Given the description of an element on the screen output the (x, y) to click on. 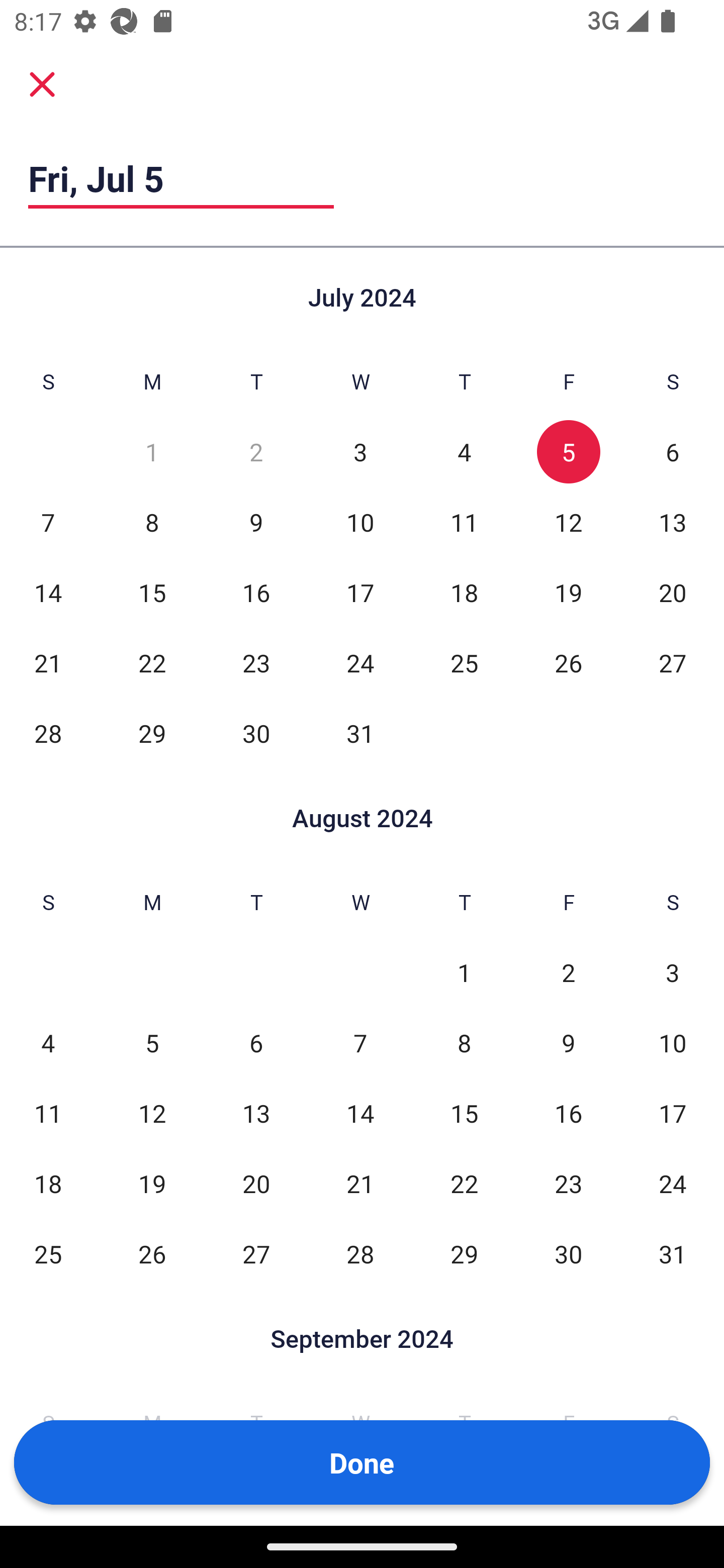
Cancel (41, 83)
Fri, Jul 5 (180, 178)
1 Mon, Jul 1, Not Selected (152, 452)
2 Tue, Jul 2, Not Selected (256, 452)
3 Wed, Jul 3, Not Selected (360, 452)
4 Thu, Jul 4, Not Selected (464, 452)
5 Fri, Jul 5, Selected (568, 452)
6 Sat, Jul 6, Not Selected (672, 452)
7 Sun, Jul 7, Not Selected (48, 521)
8 Mon, Jul 8, Not Selected (152, 521)
9 Tue, Jul 9, Not Selected (256, 521)
10 Wed, Jul 10, Not Selected (360, 521)
11 Thu, Jul 11, Not Selected (464, 521)
12 Fri, Jul 12, Not Selected (568, 521)
13 Sat, Jul 13, Not Selected (672, 521)
14 Sun, Jul 14, Not Selected (48, 591)
15 Mon, Jul 15, Not Selected (152, 591)
16 Tue, Jul 16, Not Selected (256, 591)
17 Wed, Jul 17, Not Selected (360, 591)
18 Thu, Jul 18, Not Selected (464, 591)
19 Fri, Jul 19, Not Selected (568, 591)
20 Sat, Jul 20, Not Selected (672, 591)
21 Sun, Jul 21, Not Selected (48, 662)
22 Mon, Jul 22, Not Selected (152, 662)
23 Tue, Jul 23, Not Selected (256, 662)
24 Wed, Jul 24, Not Selected (360, 662)
25 Thu, Jul 25, Not Selected (464, 662)
26 Fri, Jul 26, Not Selected (568, 662)
27 Sat, Jul 27, Not Selected (672, 662)
28 Sun, Jul 28, Not Selected (48, 732)
29 Mon, Jul 29, Not Selected (152, 732)
30 Tue, Jul 30, Not Selected (256, 732)
31 Wed, Jul 31, Not Selected (360, 732)
1 Thu, Aug 1, Not Selected (464, 972)
2 Fri, Aug 2, Not Selected (568, 972)
3 Sat, Aug 3, Not Selected (672, 972)
4 Sun, Aug 4, Not Selected (48, 1043)
5 Mon, Aug 5, Not Selected (152, 1043)
6 Tue, Aug 6, Not Selected (256, 1043)
7 Wed, Aug 7, Not Selected (360, 1043)
8 Thu, Aug 8, Not Selected (464, 1043)
9 Fri, Aug 9, Not Selected (568, 1043)
10 Sat, Aug 10, Not Selected (672, 1043)
11 Sun, Aug 11, Not Selected (48, 1112)
12 Mon, Aug 12, Not Selected (152, 1112)
13 Tue, Aug 13, Not Selected (256, 1112)
14 Wed, Aug 14, Not Selected (360, 1112)
15 Thu, Aug 15, Not Selected (464, 1112)
16 Fri, Aug 16, Not Selected (568, 1112)
17 Sat, Aug 17, Not Selected (672, 1112)
18 Sun, Aug 18, Not Selected (48, 1182)
19 Mon, Aug 19, Not Selected (152, 1182)
20 Tue, Aug 20, Not Selected (256, 1182)
21 Wed, Aug 21, Not Selected (360, 1182)
22 Thu, Aug 22, Not Selected (464, 1182)
23 Fri, Aug 23, Not Selected (568, 1182)
24 Sat, Aug 24, Not Selected (672, 1182)
25 Sun, Aug 25, Not Selected (48, 1253)
26 Mon, Aug 26, Not Selected (152, 1253)
27 Tue, Aug 27, Not Selected (256, 1253)
28 Wed, Aug 28, Not Selected (360, 1253)
29 Thu, Aug 29, Not Selected (464, 1253)
30 Fri, Aug 30, Not Selected (568, 1253)
31 Sat, Aug 31, Not Selected (672, 1253)
Done Button Done (361, 1462)
